Given the description of an element on the screen output the (x, y) to click on. 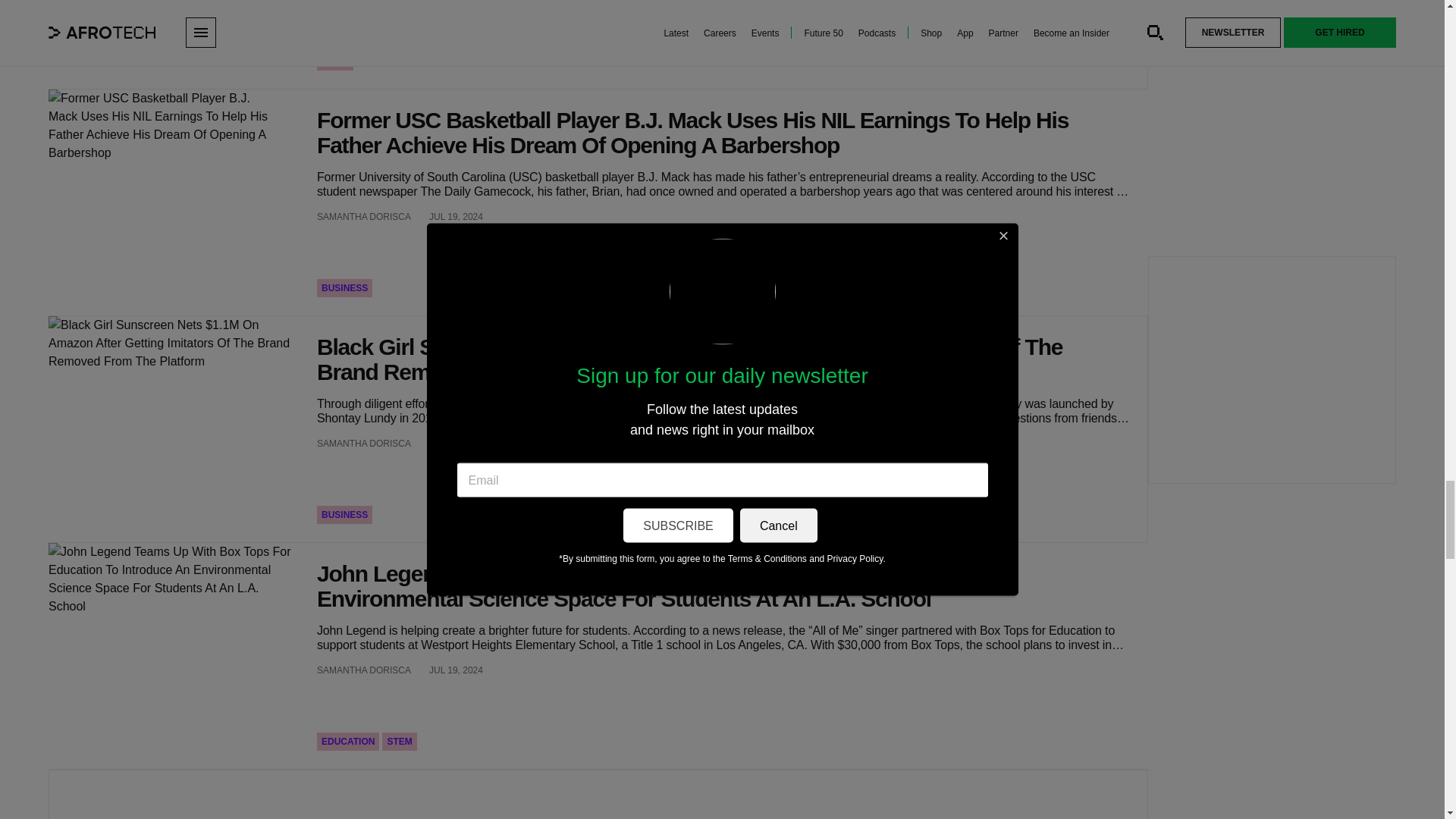
AfroTech Daily Newsletter Confirmation (173, 44)
